Given the description of an element on the screen output the (x, y) to click on. 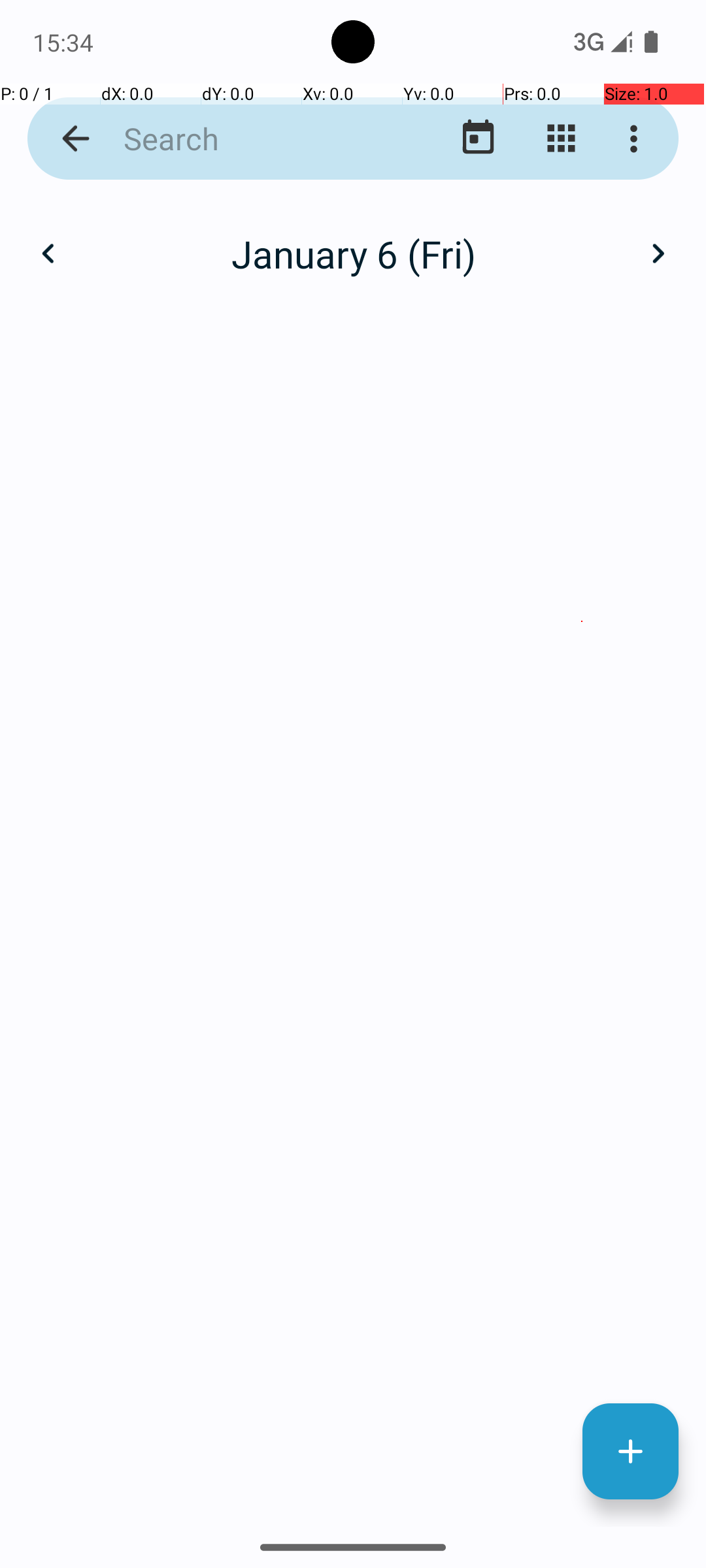
Go to today Element type: android.widget.Button (477, 138)
JANUARY Element type: android.widget.TextView (123, 319)
FEBRUARY Element type: android.widget.TextView (352, 319)
MARCH Element type: android.widget.TextView (582, 319)
APRIL Element type: android.widget.TextView (123, 621)
MAY Element type: android.widget.TextView (352, 621)
JUNE Element type: android.widget.TextView (582, 621)
JULY Element type: android.widget.TextView (123, 923)
AUGUST Element type: android.widget.TextView (352, 923)
SEPTEMBER Element type: android.widget.TextView (582, 923)
OCTOBER Element type: android.widget.TextView (123, 1224)
NOVEMBER Element type: android.widget.TextView (352, 1224)
DECEMBER Element type: android.widget.TextView (582, 1224)
January Element type: android.widget.TextView (352, 239)
January 6 (Fri) Element type: android.widget.TextView (352, 253)
